Given the description of an element on the screen output the (x, y) to click on. 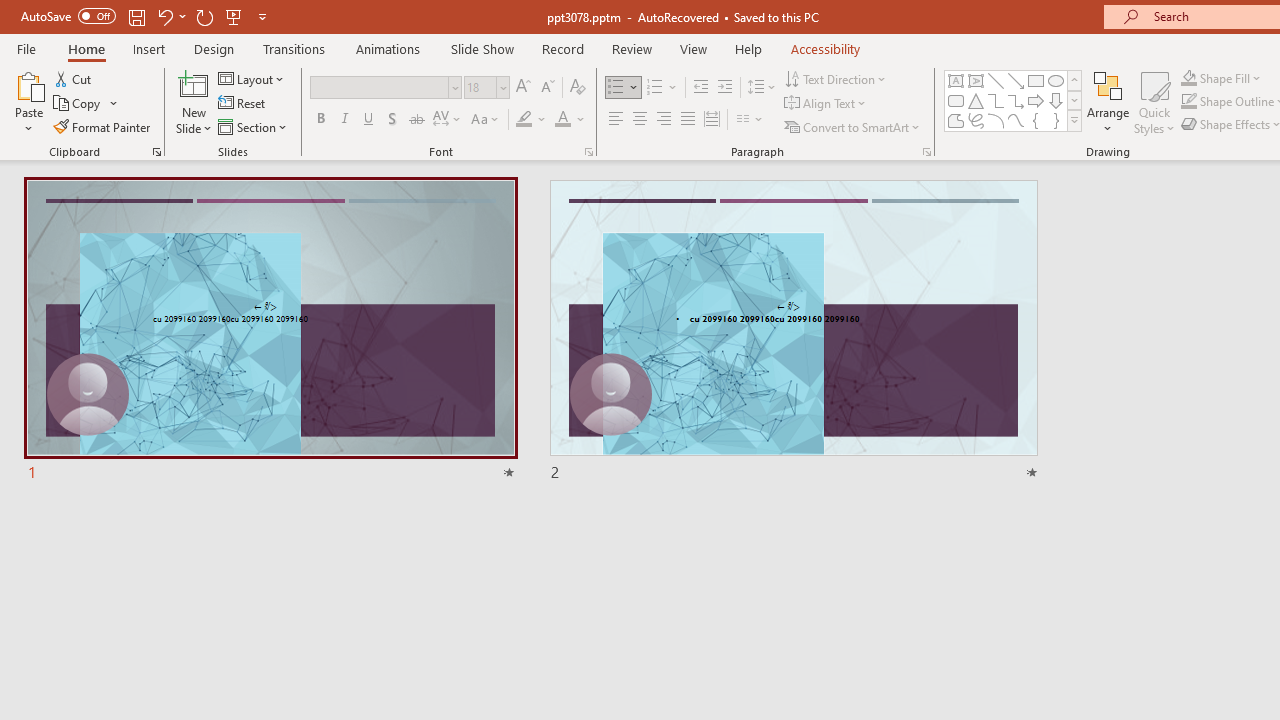
Curve (1016, 120)
Shape Fill (1221, 78)
Character Spacing (447, 119)
Justify (687, 119)
More Options (1232, 78)
Shadow (392, 119)
Text Highlight Color (531, 119)
Transitions (294, 48)
Increase Font Size (522, 87)
Italic (344, 119)
Cut (73, 78)
Left Brace (1035, 120)
Align Right (663, 119)
New Slide (193, 102)
Line (995, 80)
